Given the description of an element on the screen output the (x, y) to click on. 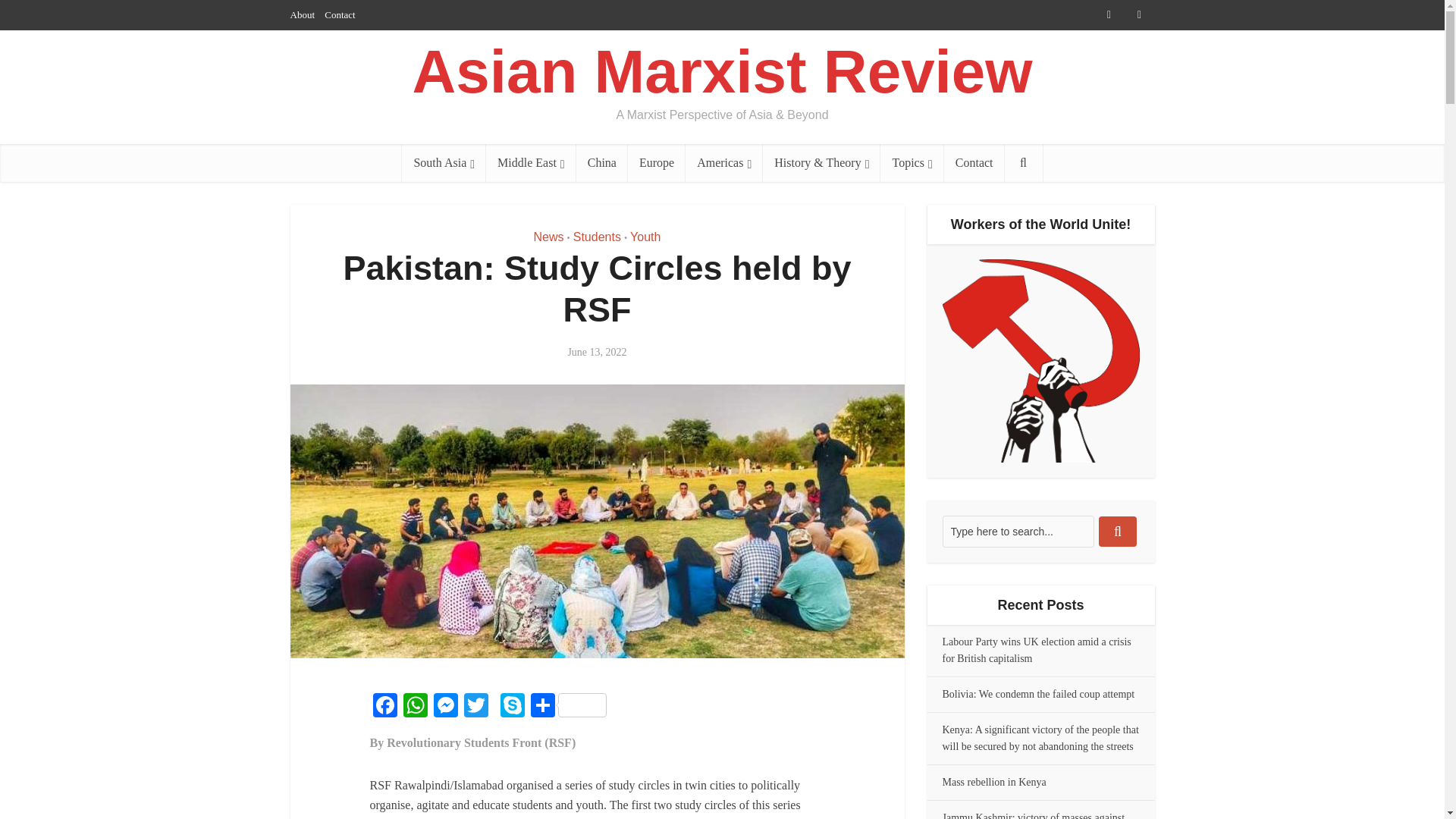
News (549, 236)
Type here to search... (1017, 531)
Europe (656, 162)
Skype (512, 706)
Twitter (476, 706)
Asian Marxist Review (722, 71)
Facebook (384, 706)
Asian Marxist Review (722, 71)
Americas (723, 162)
Contact (339, 14)
Facebook Messenger (445, 706)
WhatsApp (415, 706)
China (601, 162)
South Asia (443, 162)
Topics (911, 162)
